Given the description of an element on the screen output the (x, y) to click on. 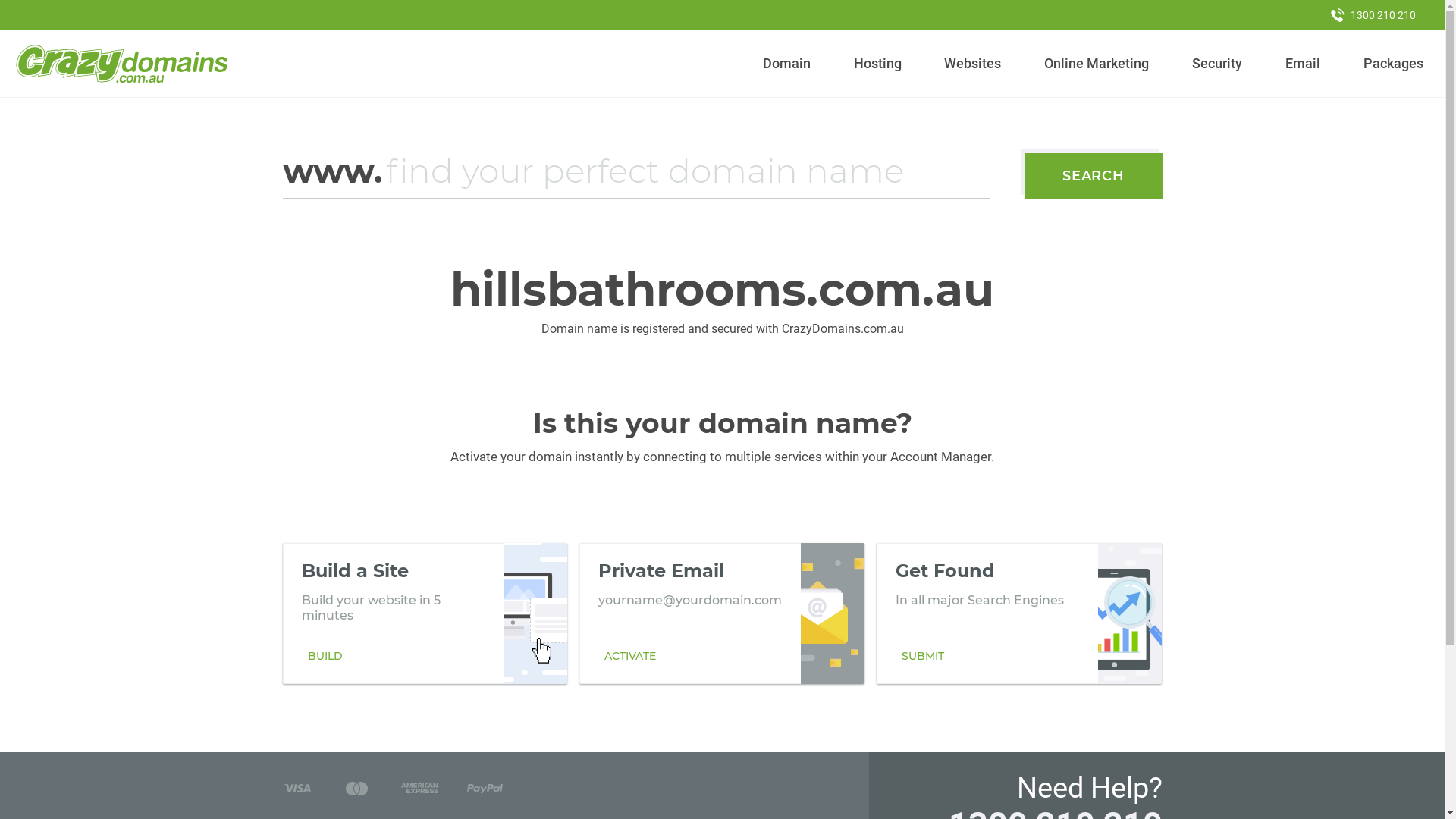
Domain Element type: text (786, 63)
Email Element type: text (1302, 63)
Security Element type: text (1217, 63)
1300 210 210 Element type: text (1373, 15)
Packages Element type: text (1392, 63)
Private Email
yourname@yourdomain.com
ACTIVATE Element type: text (721, 613)
Build a Site
Build your website in 5 minutes
BUILD Element type: text (424, 613)
Hosting Element type: text (877, 63)
Online Marketing Element type: text (1096, 63)
SEARCH Element type: text (1092, 175)
Websites Element type: text (972, 63)
Get Found
In all major Search Engines
SUBMIT Element type: text (1018, 613)
